Given the description of an element on the screen output the (x, y) to click on. 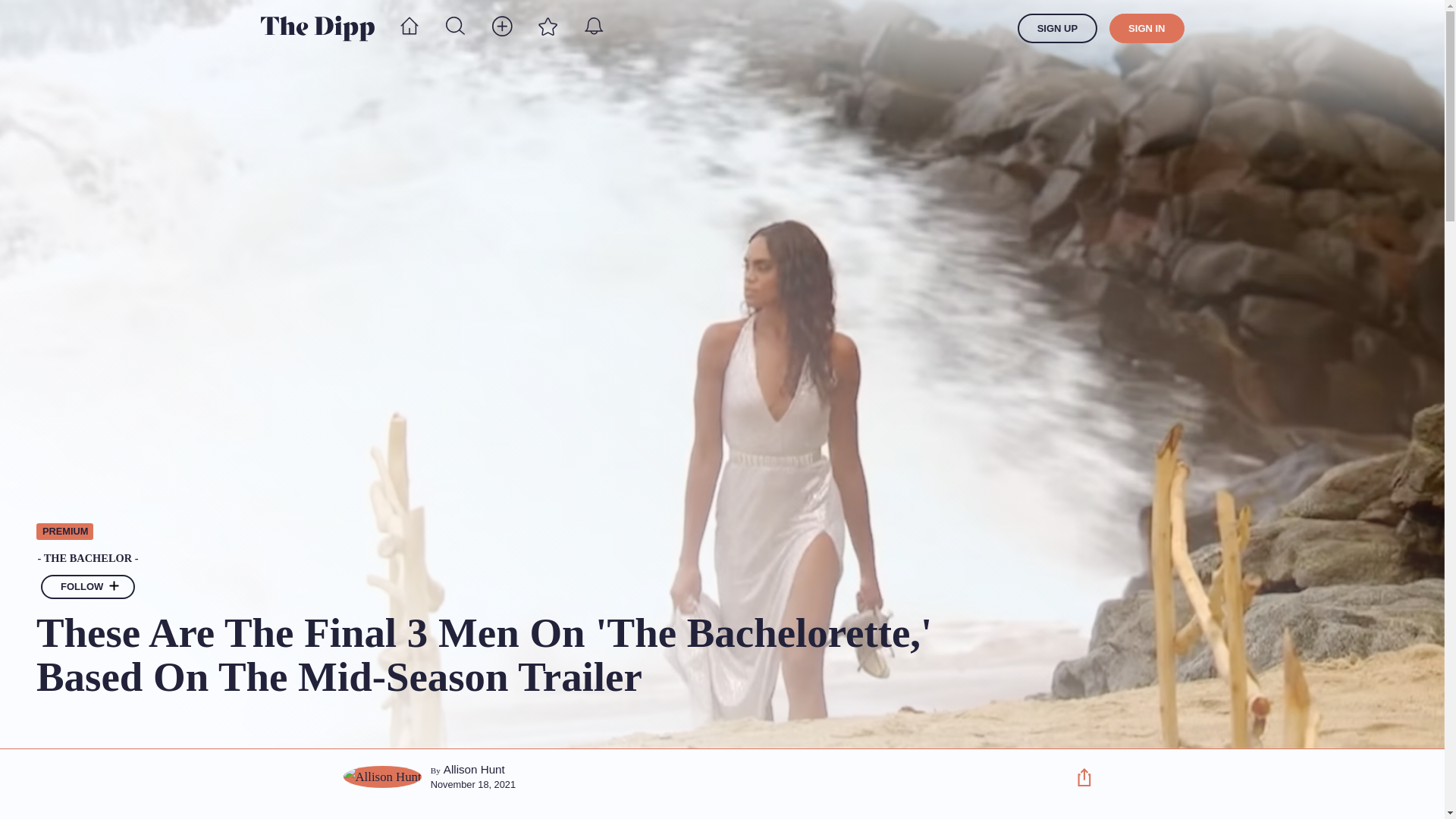
SIGN IN (1146, 28)
Dipp (317, 28)
SIGN UP (1057, 28)
Allison Hunt (474, 768)
FOLLOW (87, 586)
- THE BACHELOR - (542, 559)
